Given the description of an element on the screen output the (x, y) to click on. 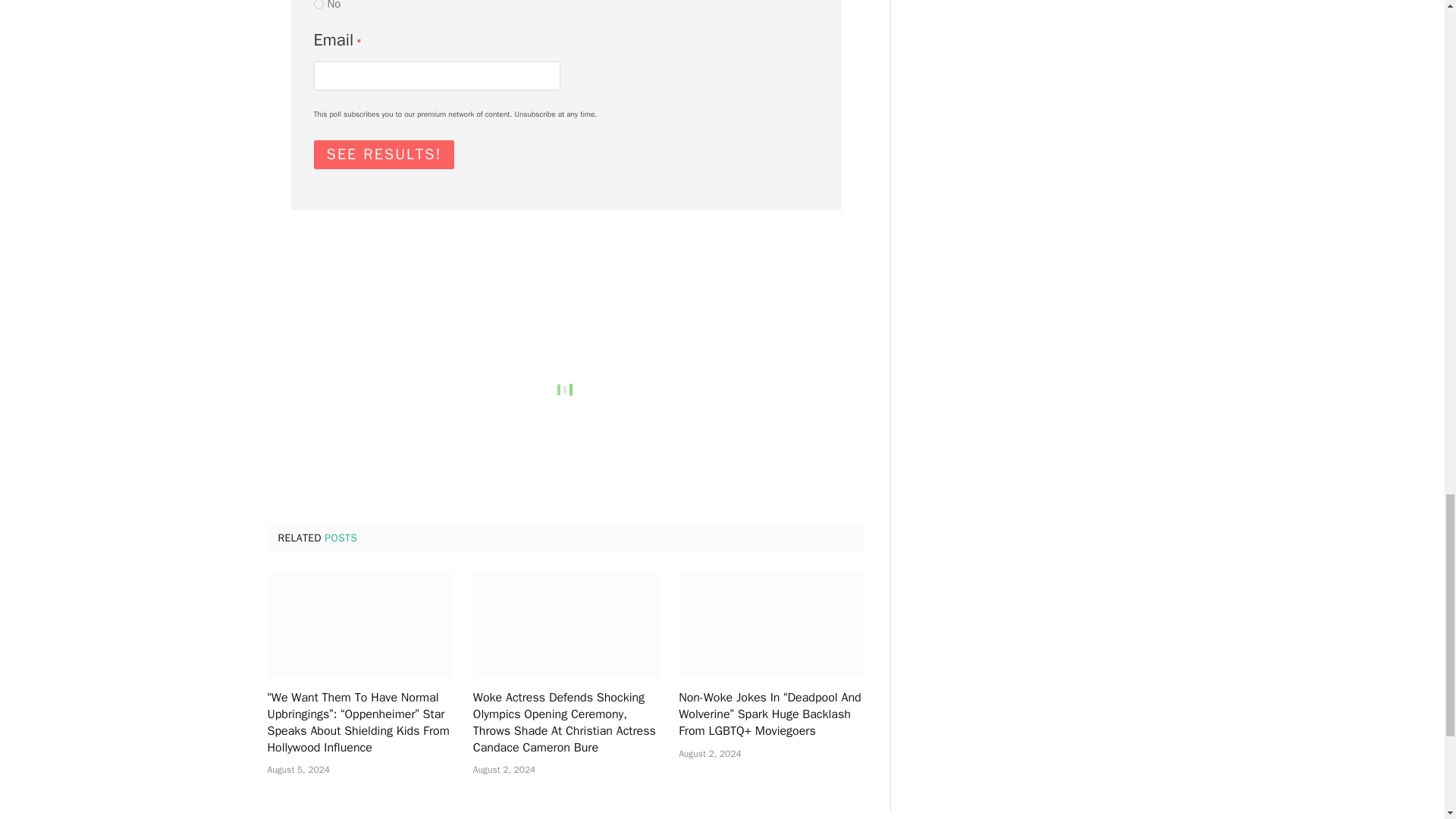
See Results! (384, 154)
See Results! (384, 154)
gpoll1b2a53ce5 (318, 4)
